Given the description of an element on the screen output the (x, y) to click on. 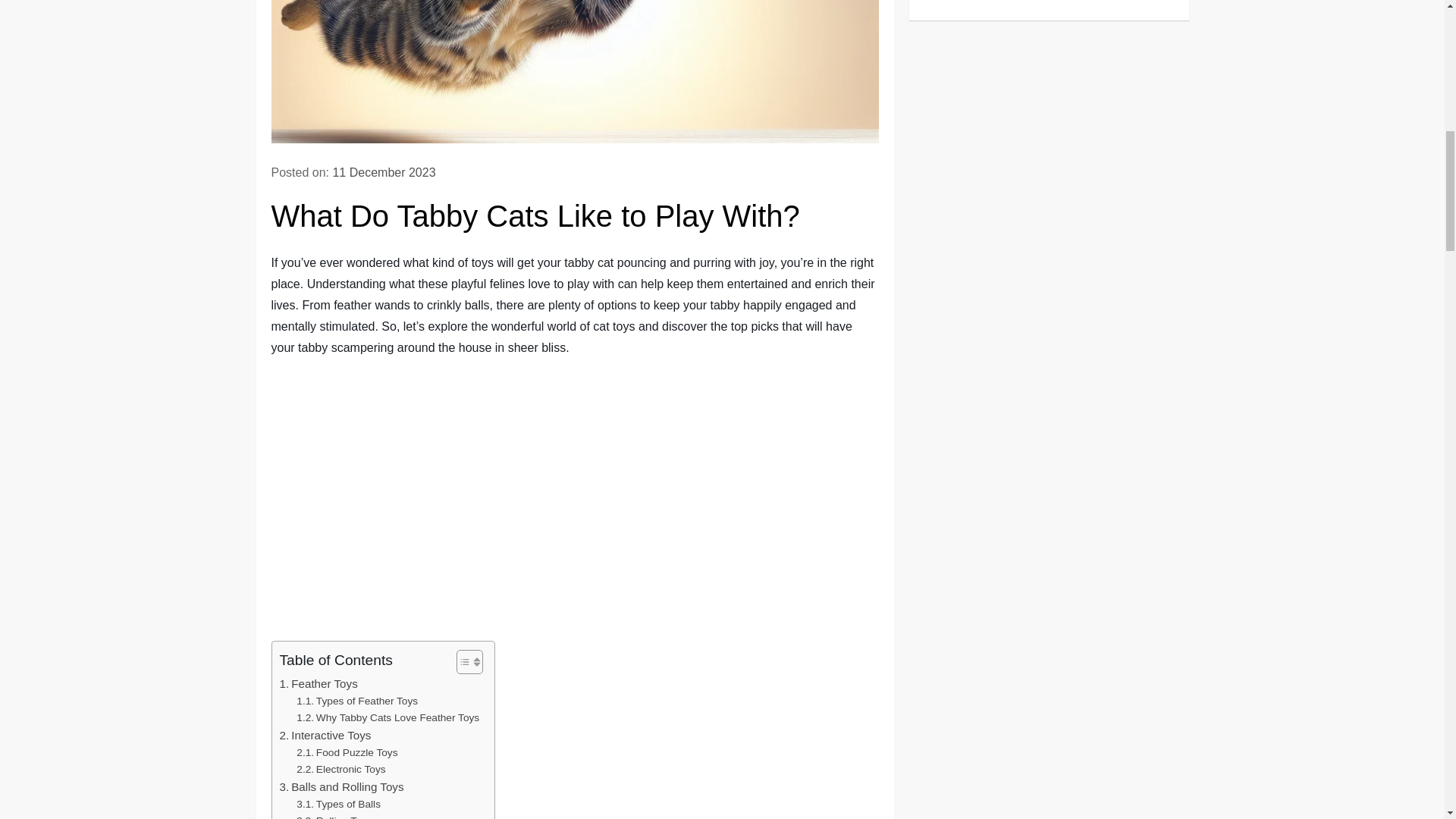
Rolling Toys (334, 816)
Interactive Toys (325, 735)
Electronic Toys (341, 769)
Interactive Toys (325, 735)
Food Puzzle Toys (347, 752)
Types of Balls (338, 804)
Types of Feather Toys (357, 701)
Electronic Toys (341, 769)
Food Puzzle Toys (347, 752)
Feather Toys (317, 683)
Balls and Rolling Toys (341, 787)
11 December 2023 (383, 172)
Types of Balls (338, 804)
Feather Toys (317, 683)
Types of Feather Toys (357, 701)
